Given the description of an element on the screen output the (x, y) to click on. 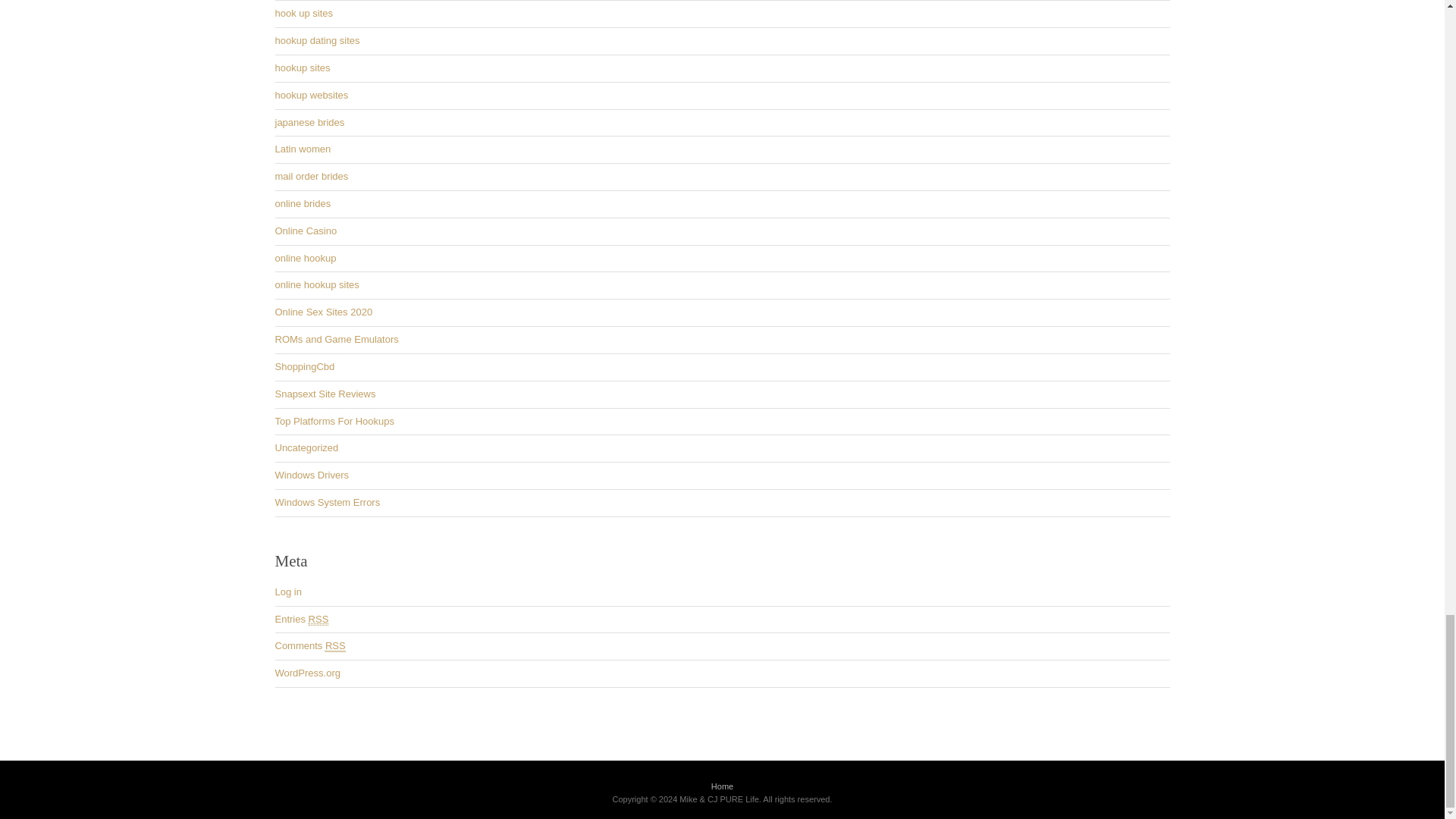
Really Simple Syndication (335, 645)
Really Simple Syndication (318, 619)
